Given the description of an element on the screen output the (x, y) to click on. 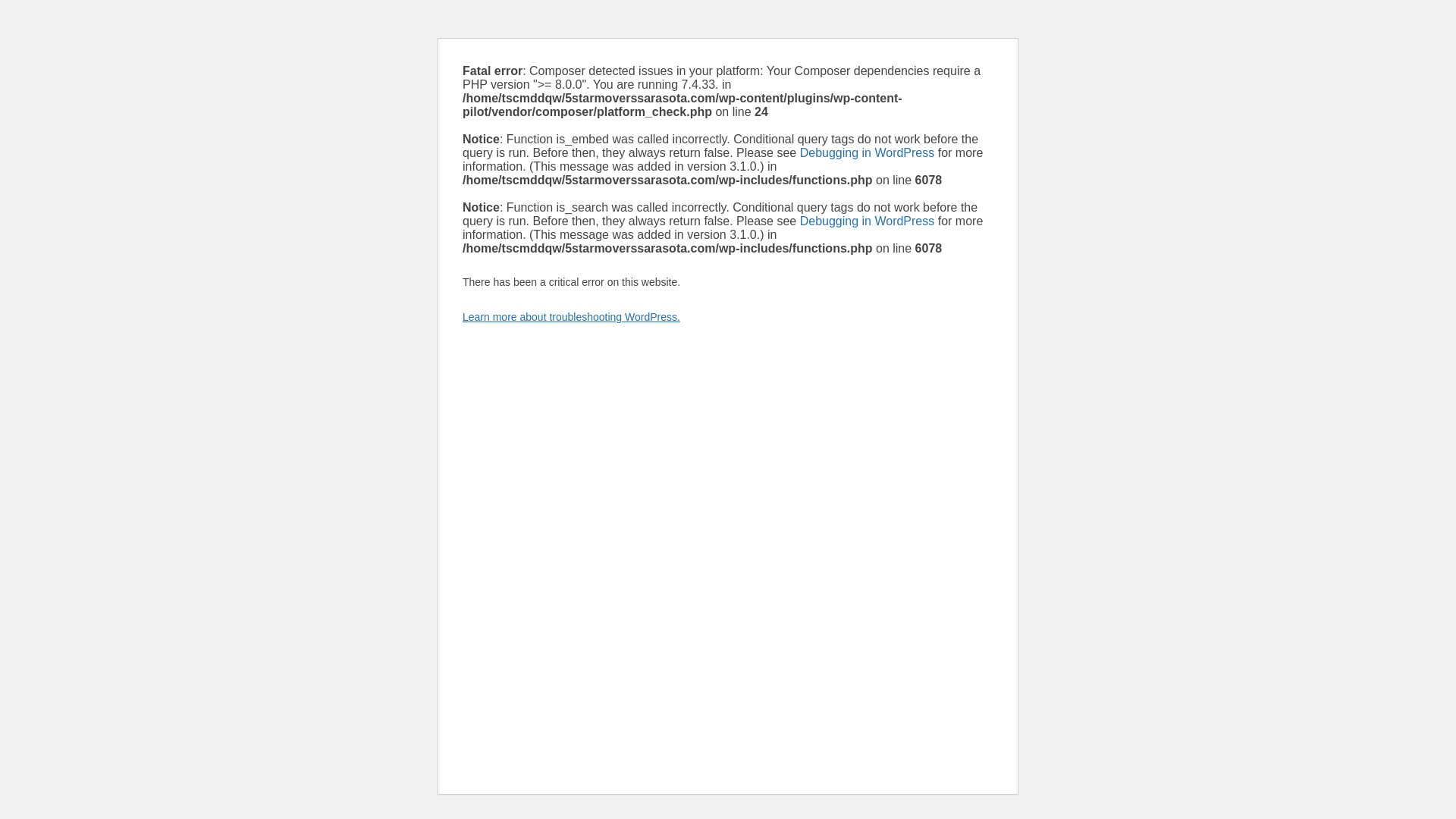
Learn more about troubleshooting WordPress. (571, 316)
Debugging in WordPress (866, 152)
Debugging in WordPress (866, 220)
